Given the description of an element on the screen output the (x, y) to click on. 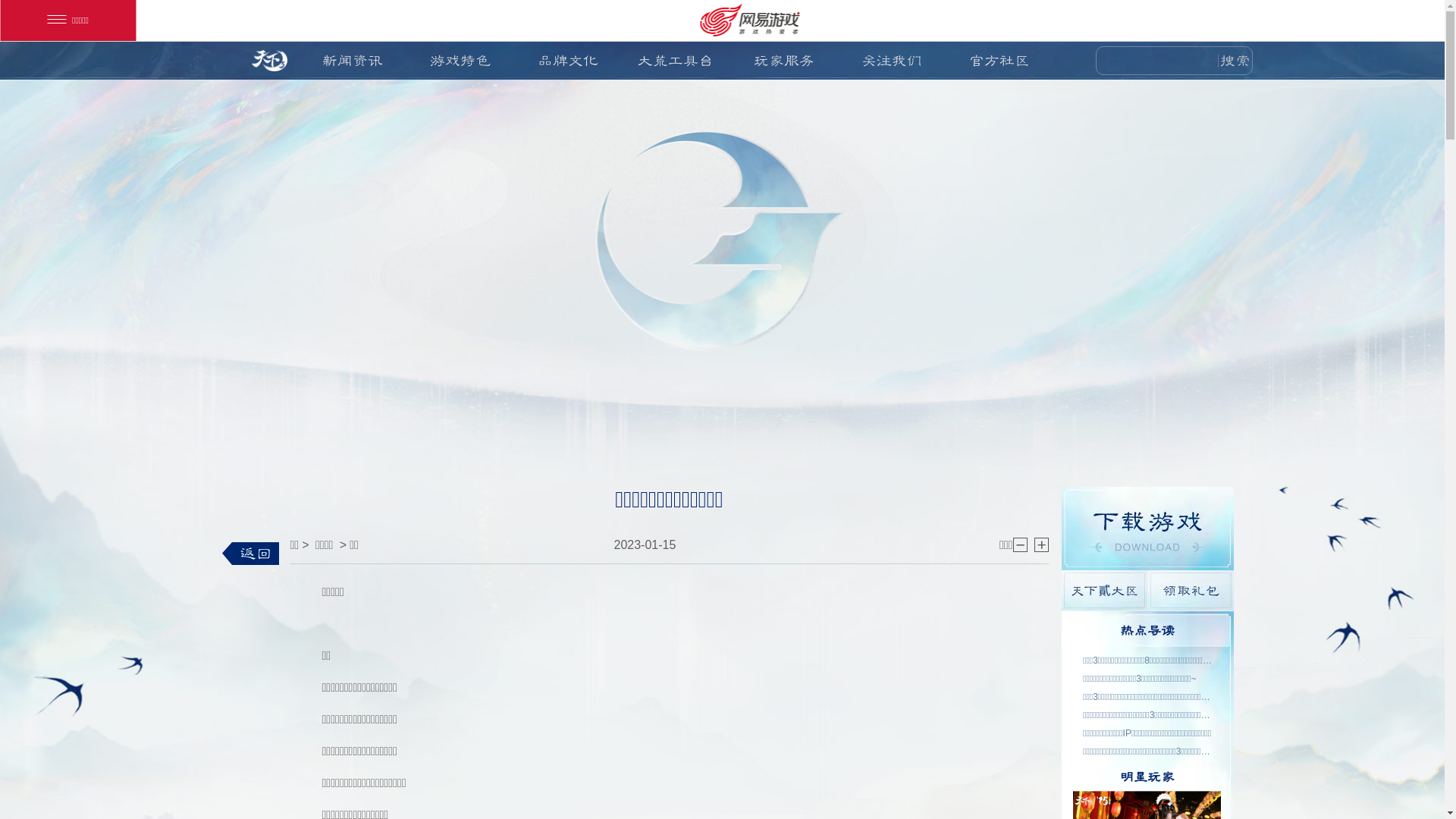
- Element type: text (1020, 544)
+ Element type: text (1041, 544)
